Given the description of an element on the screen output the (x, y) to click on. 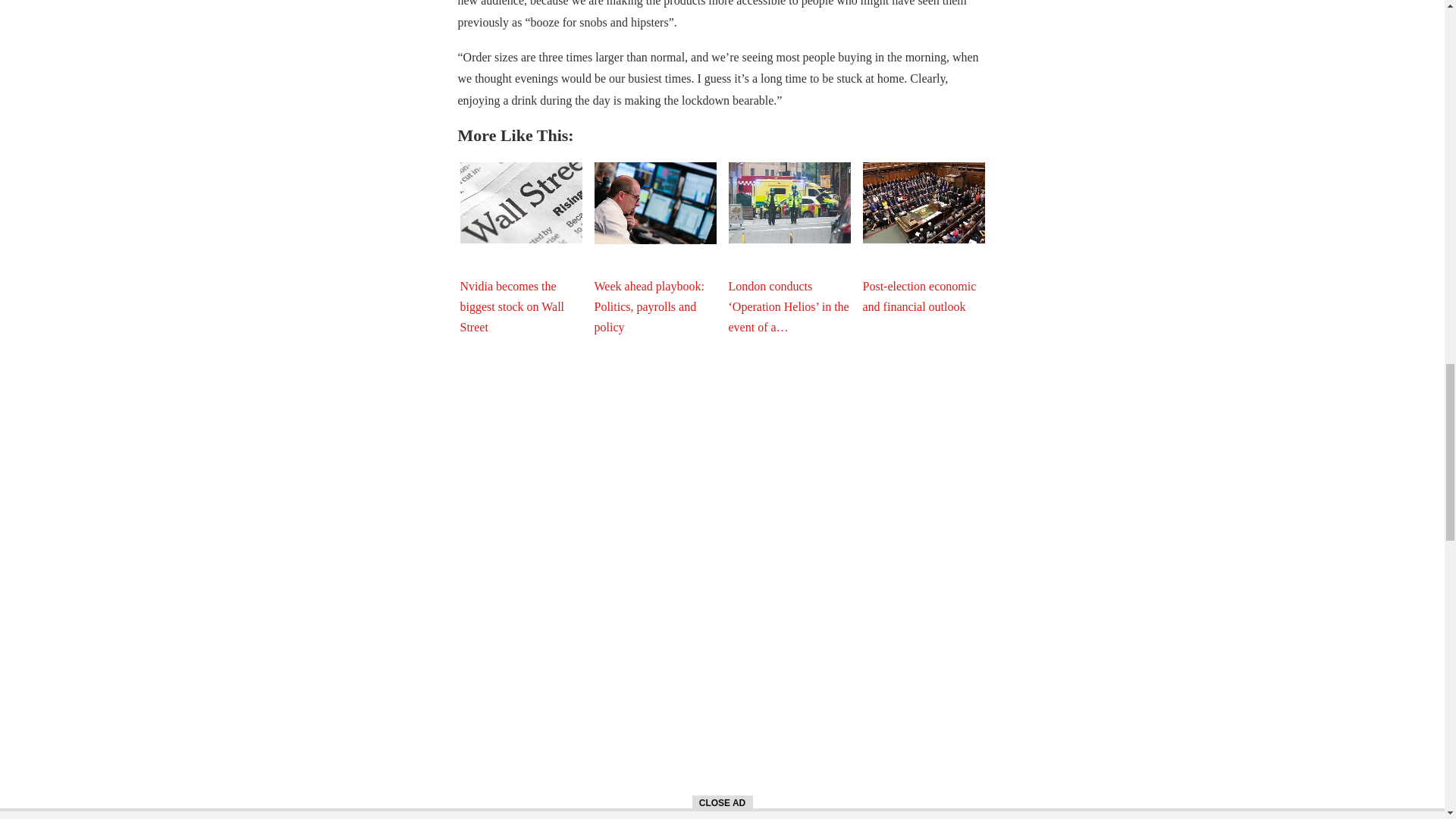
Post-election economic and financial outlook (924, 202)
Nvidia becomes the biggest stock on Wall Street (520, 202)
Week ahead playbook: Politics, payrolls and policy (655, 203)
